Given the description of an element on the screen output the (x, y) to click on. 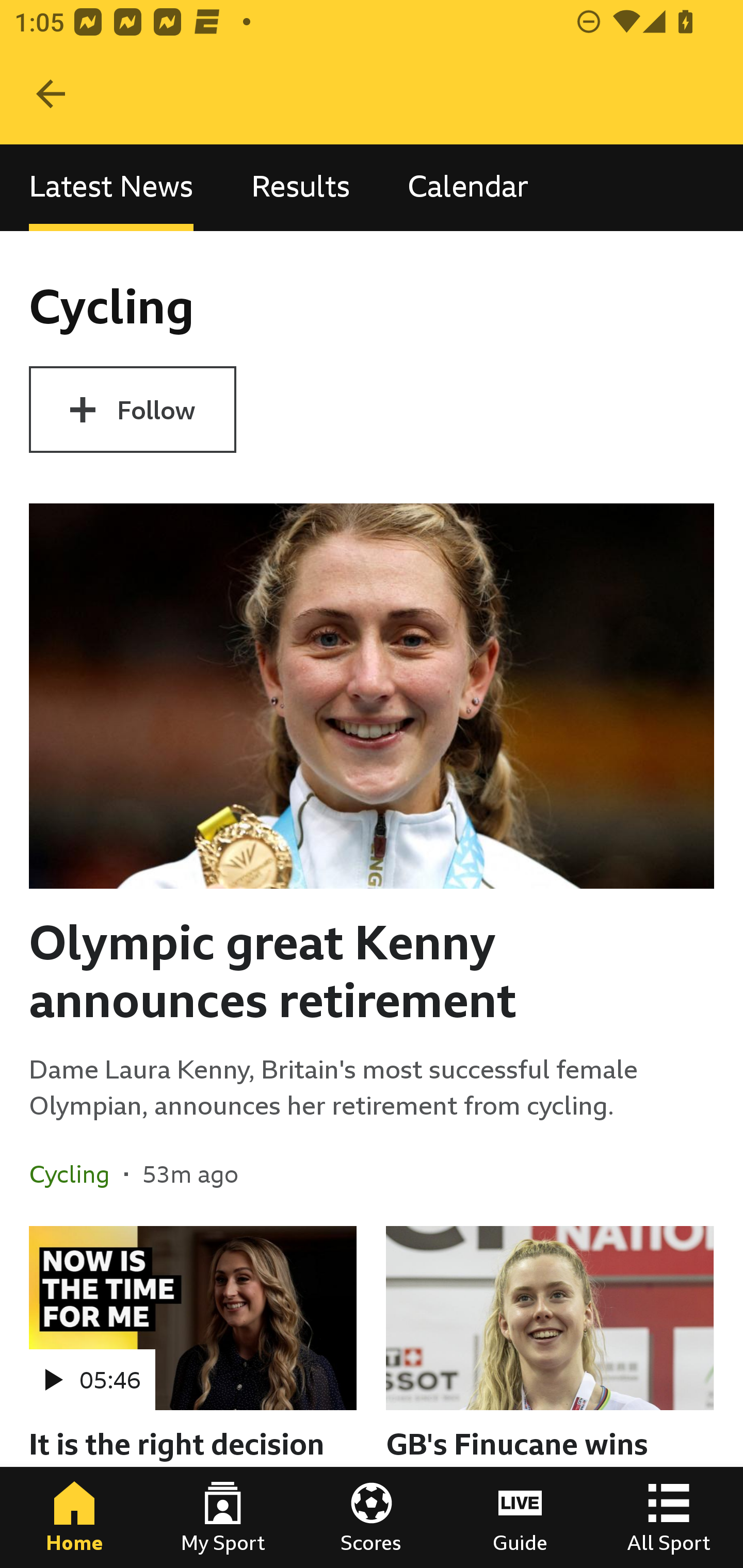
Navigate up (50, 93)
Latest News, selected Latest News (111, 187)
Results (300, 187)
Calendar (467, 187)
Follow Cycling Follow (132, 409)
My Sport (222, 1517)
Scores (371, 1517)
Guide (519, 1517)
All Sport (668, 1517)
